Given the description of an element on the screen output the (x, y) to click on. 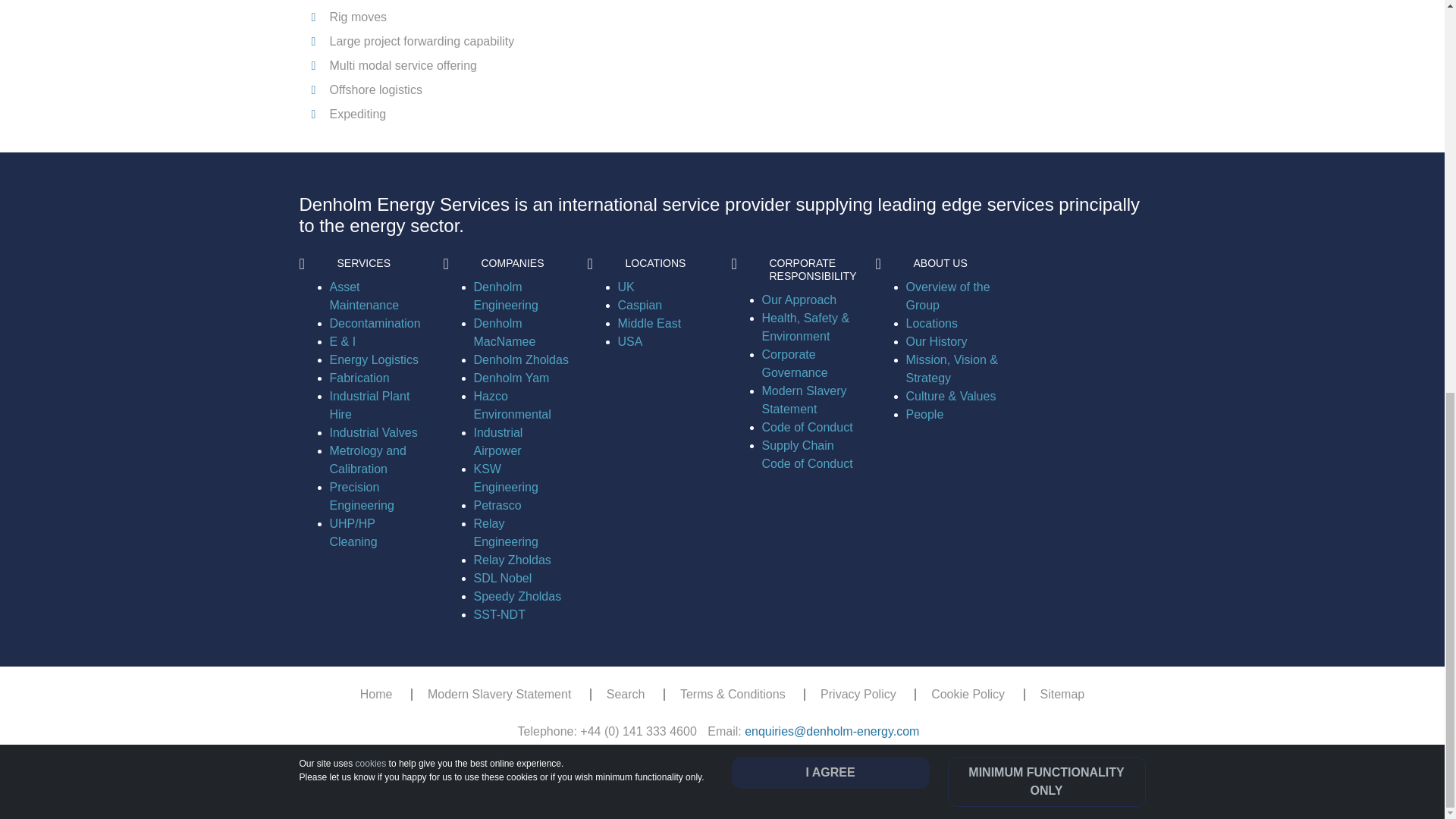
Website by Gecko Agency (753, 786)
Cookie Policy (371, 9)
